Given the description of an element on the screen output the (x, y) to click on. 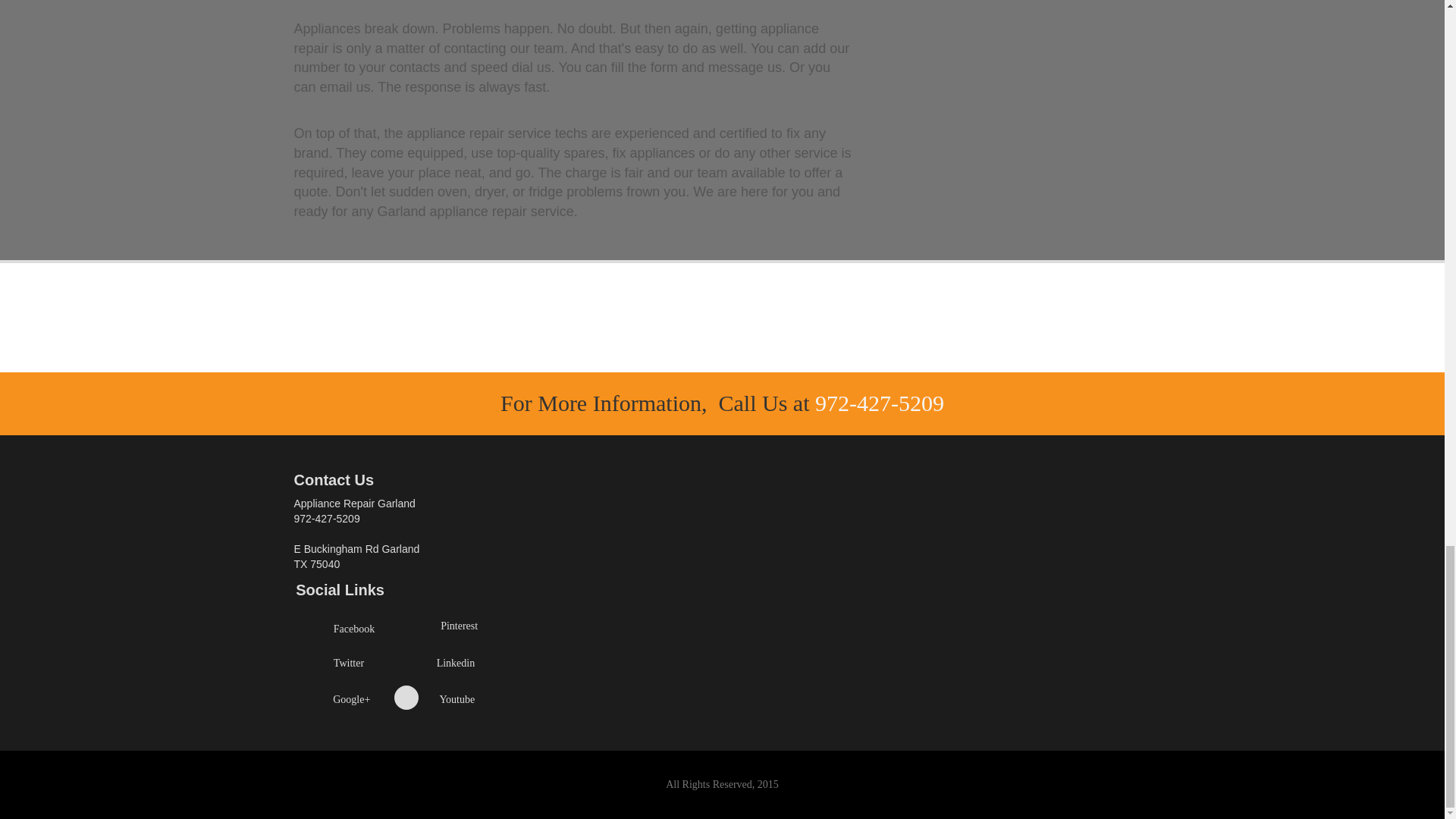
Twitter (348, 663)
Facebook (353, 628)
972-427-5209 (879, 402)
